Given the description of an element on the screen output the (x, y) to click on. 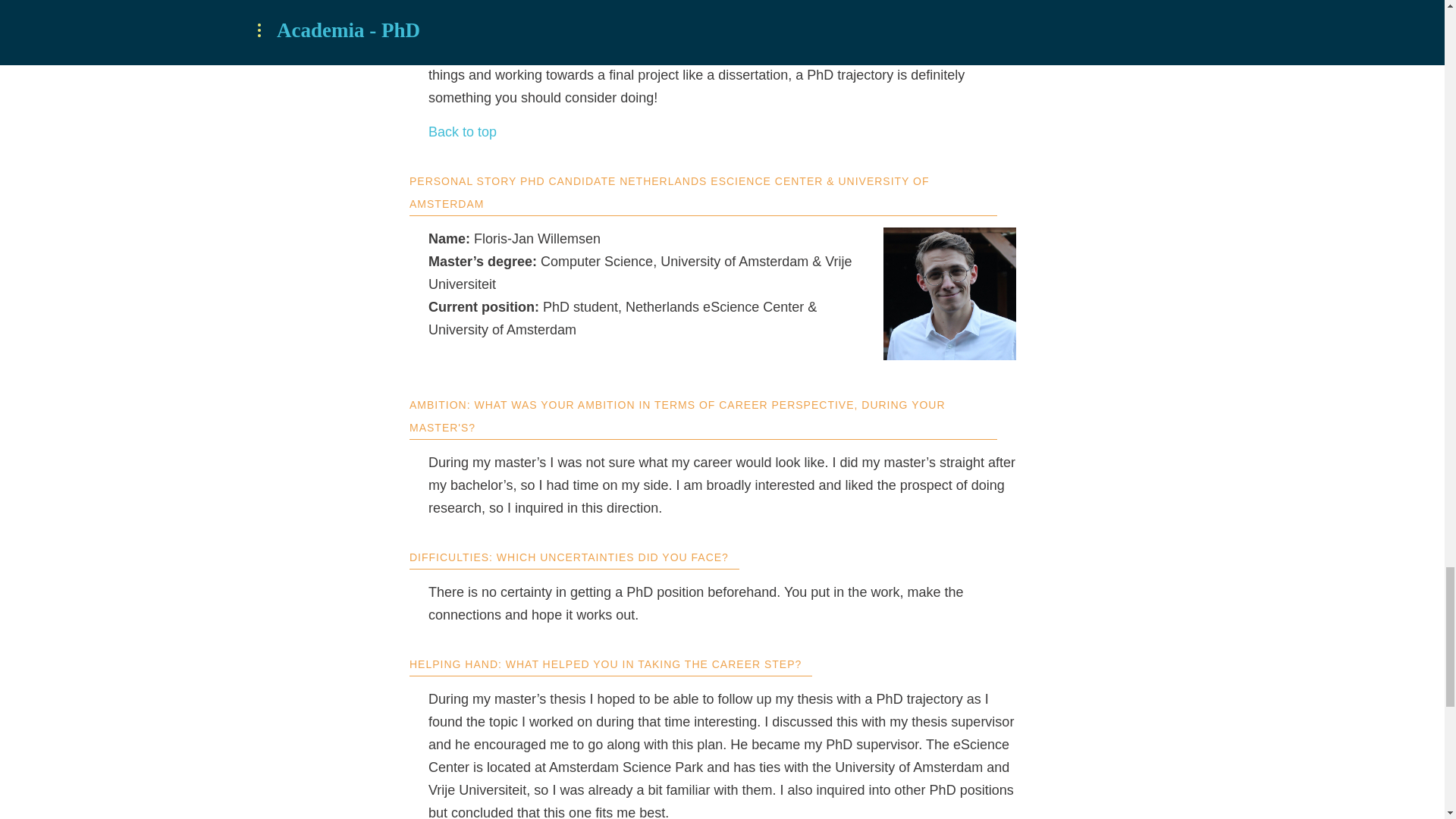
Floris-Jan Willemsen (949, 293)
